Given the description of an element on the screen output the (x, y) to click on. 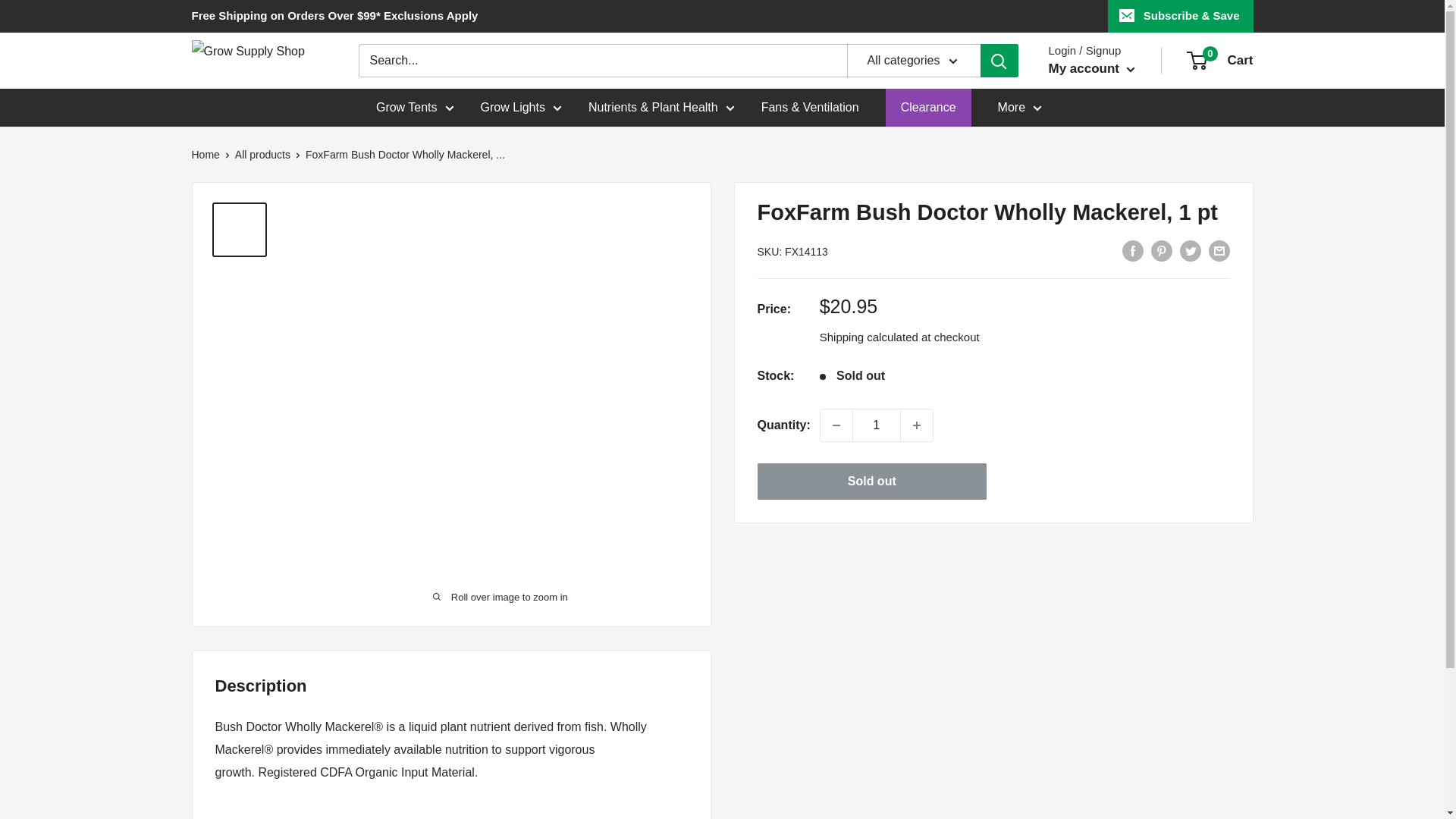
Increase quantity by 1 (917, 425)
Decrease quantity by 1 (836, 425)
1 (876, 425)
